Given the description of an element on the screen output the (x, y) to click on. 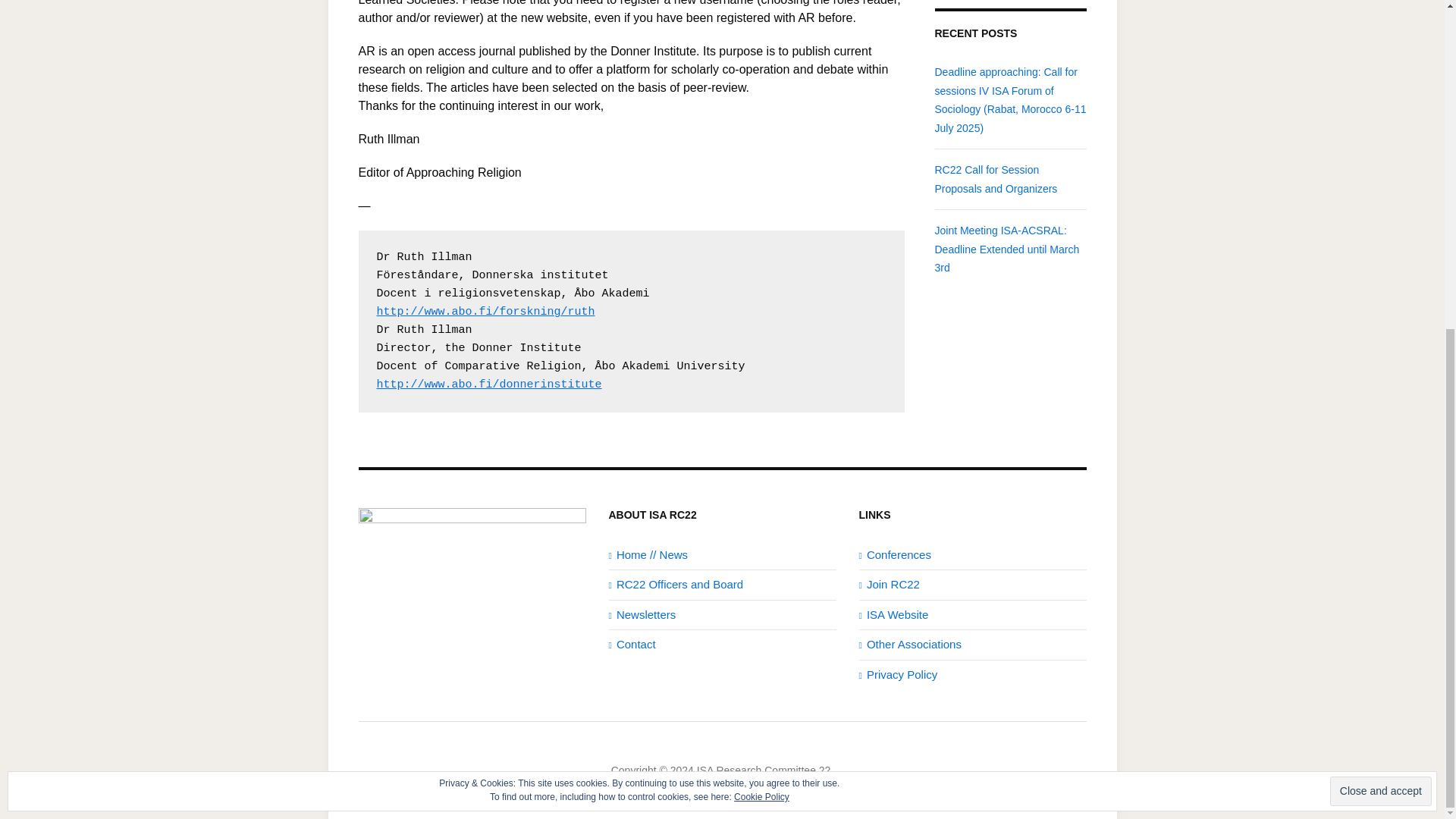
RC22 Call for Session Proposals and Organizers (995, 178)
Close and accept (1380, 247)
